Given the description of an element on the screen output the (x, y) to click on. 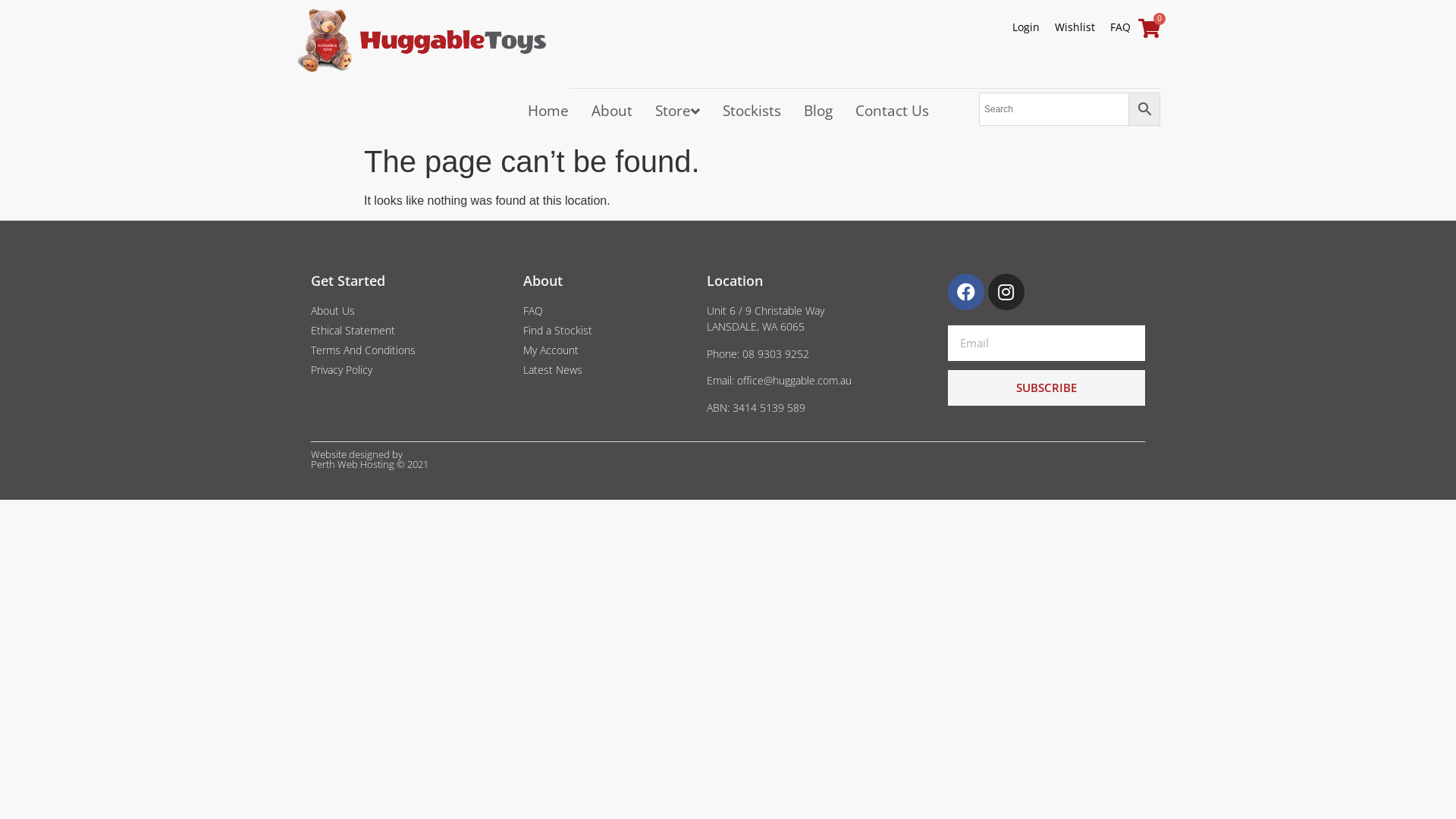
Ethical Statement Element type: text (409, 330)
SUBSCRIBE Element type: text (1046, 387)
office@huggable.com.au Element type: text (794, 380)
Blog Element type: text (817, 110)
About Element type: text (611, 110)
Stockists Element type: text (751, 110)
Wishlist Element type: text (1074, 26)
FAQ Element type: text (607, 310)
Latest News Element type: text (607, 369)
Perth Web Hosting Element type: text (352, 463)
Home Element type: text (547, 110)
Find a Stockist Element type: text (607, 330)
My Account Element type: text (607, 349)
About Us Element type: text (409, 310)
FAQ Element type: text (1120, 26)
Contact Us Element type: text (891, 110)
Terms And Conditions Element type: text (409, 349)
08 9303 9252 Element type: text (775, 353)
0 Element type: text (1149, 27)
Store Element type: text (676, 110)
Login Element type: text (1025, 26)
Privacy Policy Element type: text (409, 369)
